Given the description of an element on the screen output the (x, y) to click on. 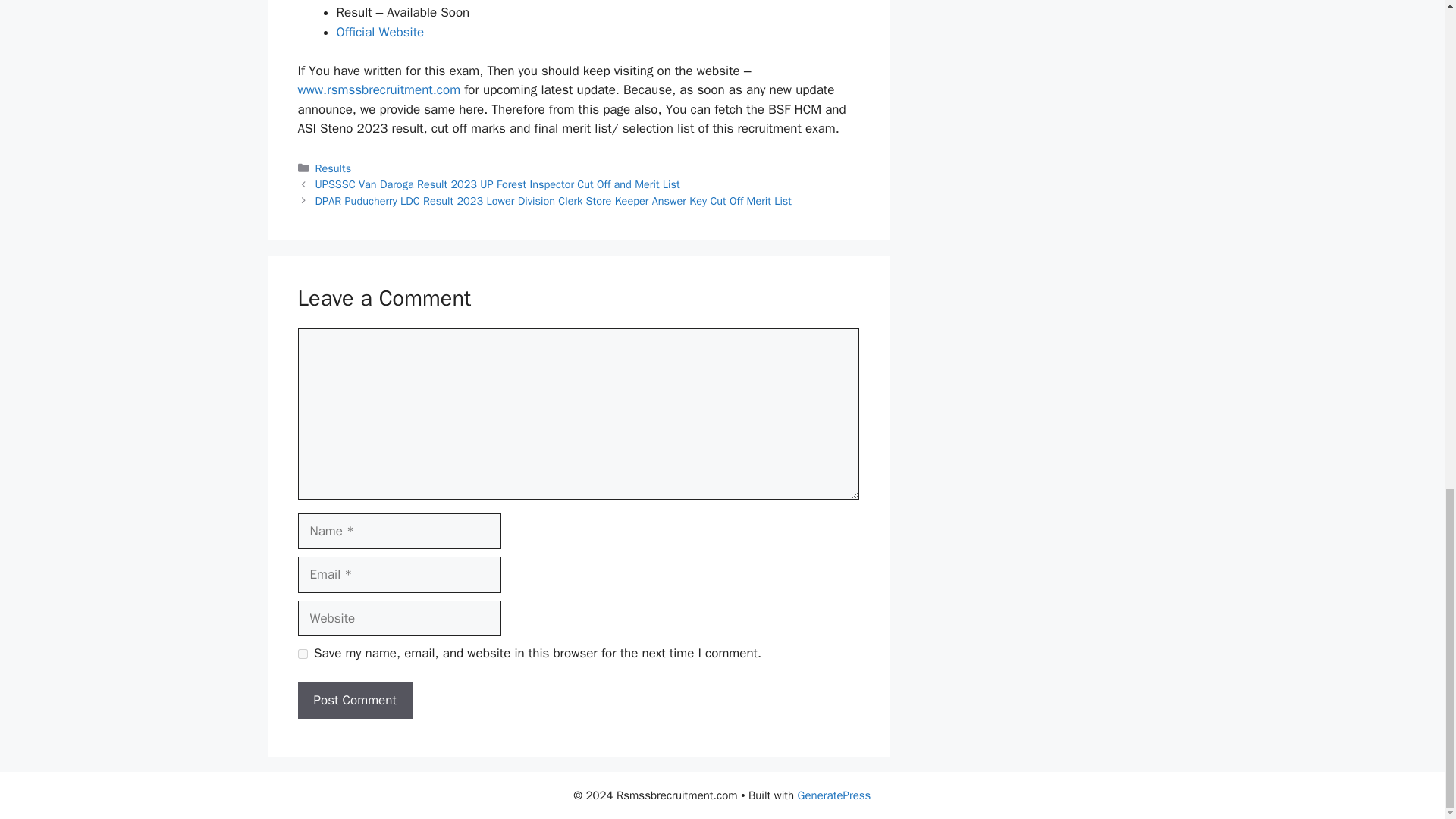
yes (302, 654)
Post Comment (354, 700)
Results (333, 168)
www.rsmssbrecruitment.com (378, 89)
GeneratePress (833, 795)
Official Website (380, 32)
Post Comment (354, 700)
